Given the description of an element on the screen output the (x, y) to click on. 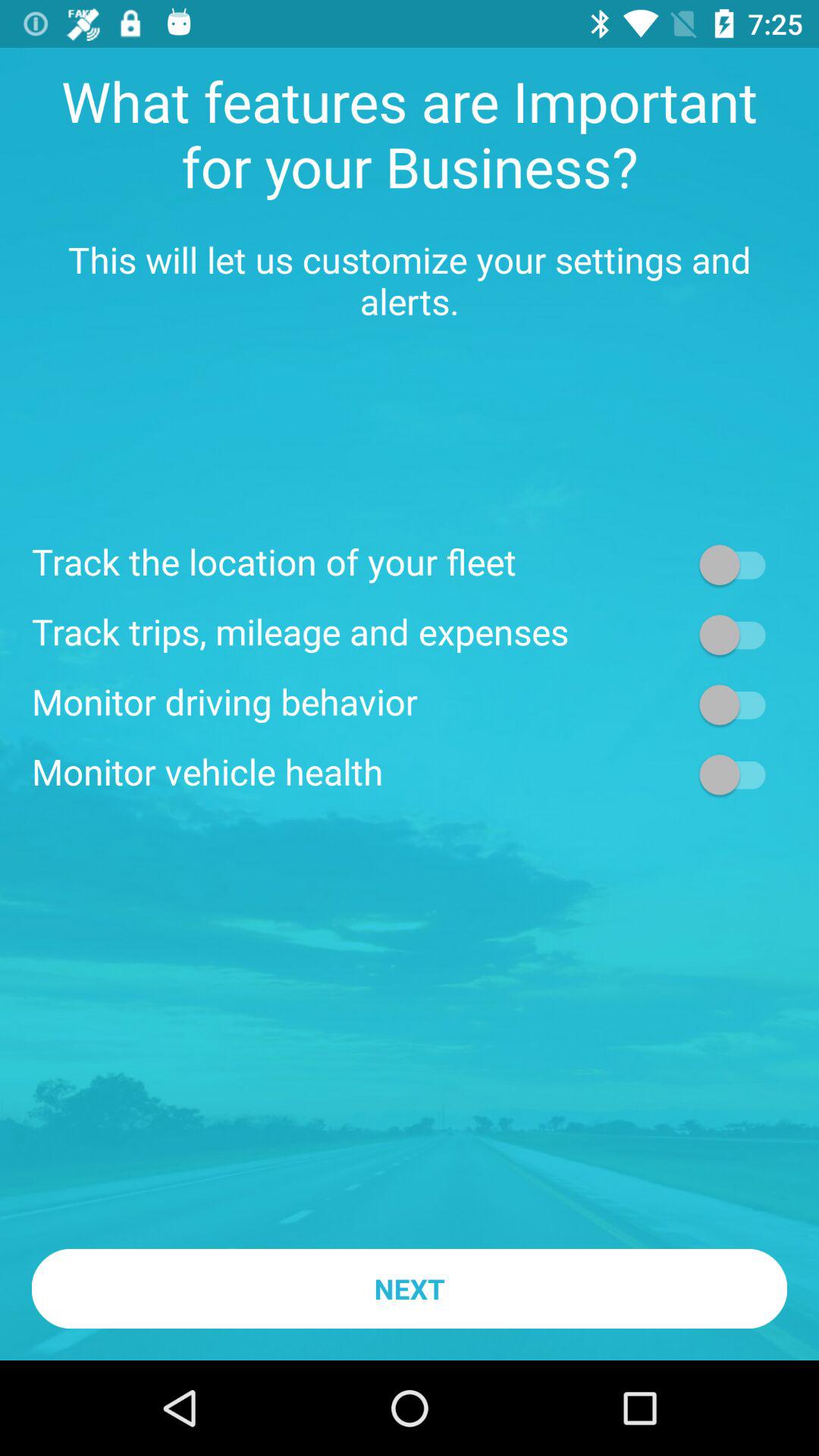
switch on (739, 704)
